Given the description of an element on the screen output the (x, y) to click on. 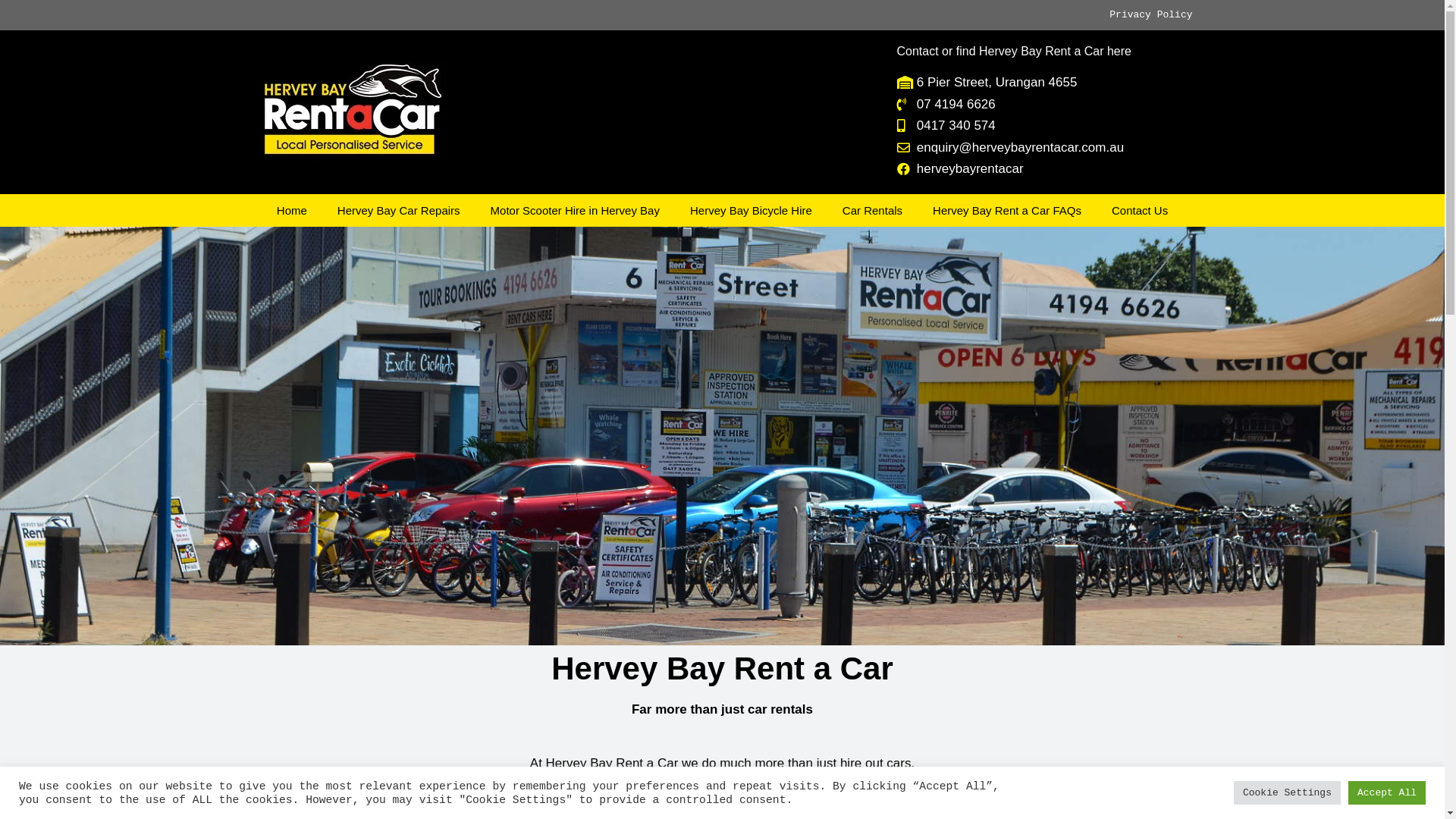
Home Element type: text (291, 210)
Motor Scooter Hire in Hervey Bay Element type: text (574, 210)
Hervey Bay Rent a Car FAQs Element type: text (1006, 210)
Hervey Bay Bicycle Hire Element type: text (750, 210)
herveybayrentacar Element type: text (1040, 168)
Cookie Settings Element type: text (1286, 792)
0417 340 574 Element type: text (1040, 125)
07 4194 6626 Element type: text (1040, 103)
Hervey Bay Car Repairs Element type: text (398, 210)
Accept All Element type: text (1386, 792)
Car Rentals Element type: text (872, 210)
Privacy Policy Element type: text (1150, 15)
Contact Us Element type: text (1139, 210)
enquiry@herveybayrentacar.com.au Element type: text (1040, 147)
